Given the description of an element on the screen output the (x, y) to click on. 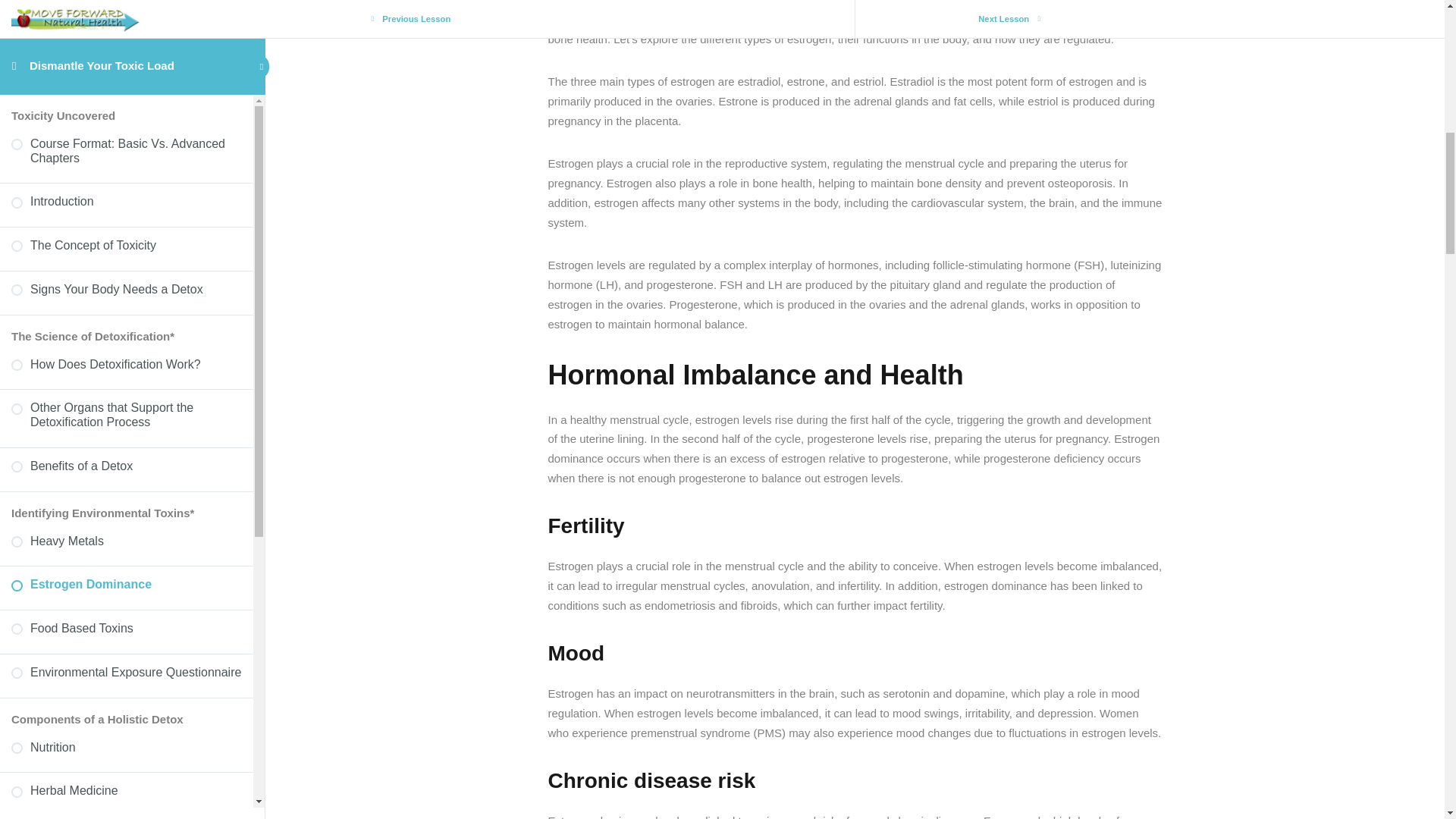
Hydration and Electrolyte Balance (126, 19)
Goals of a Detox (126, 245)
Exercise and Physical Activity (126, 63)
Tailoring Detox Protocols for Optimal Results (126, 296)
Pre and Post Assessment Questionnaire (126, 353)
Saunas (126, 107)
Stress Management and Sleep (126, 150)
